Given the description of an element on the screen output the (x, y) to click on. 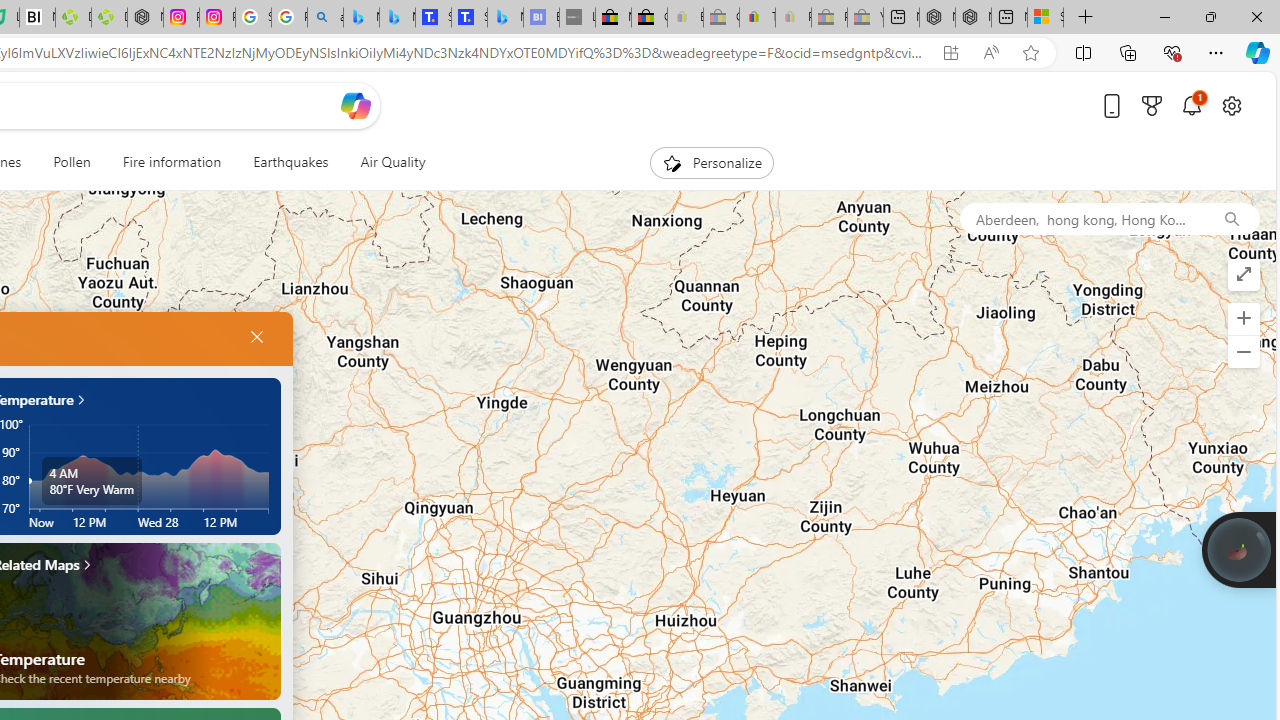
Press Room - eBay Inc. - Sleeping (829, 17)
alabama high school quarterback dies - Search (325, 17)
Earthquakes (290, 162)
Pollen (71, 162)
Descarga Driver Updater (109, 17)
Nordace - Summer Adventures 2024 (973, 17)
Zoom out (1243, 351)
Nvidia va a poner a prueba la paciencia de los inversores (37, 17)
Microsoft Bing Travel - Shangri-La Hotel Bangkok (505, 17)
